Given the description of an element on the screen output the (x, y) to click on. 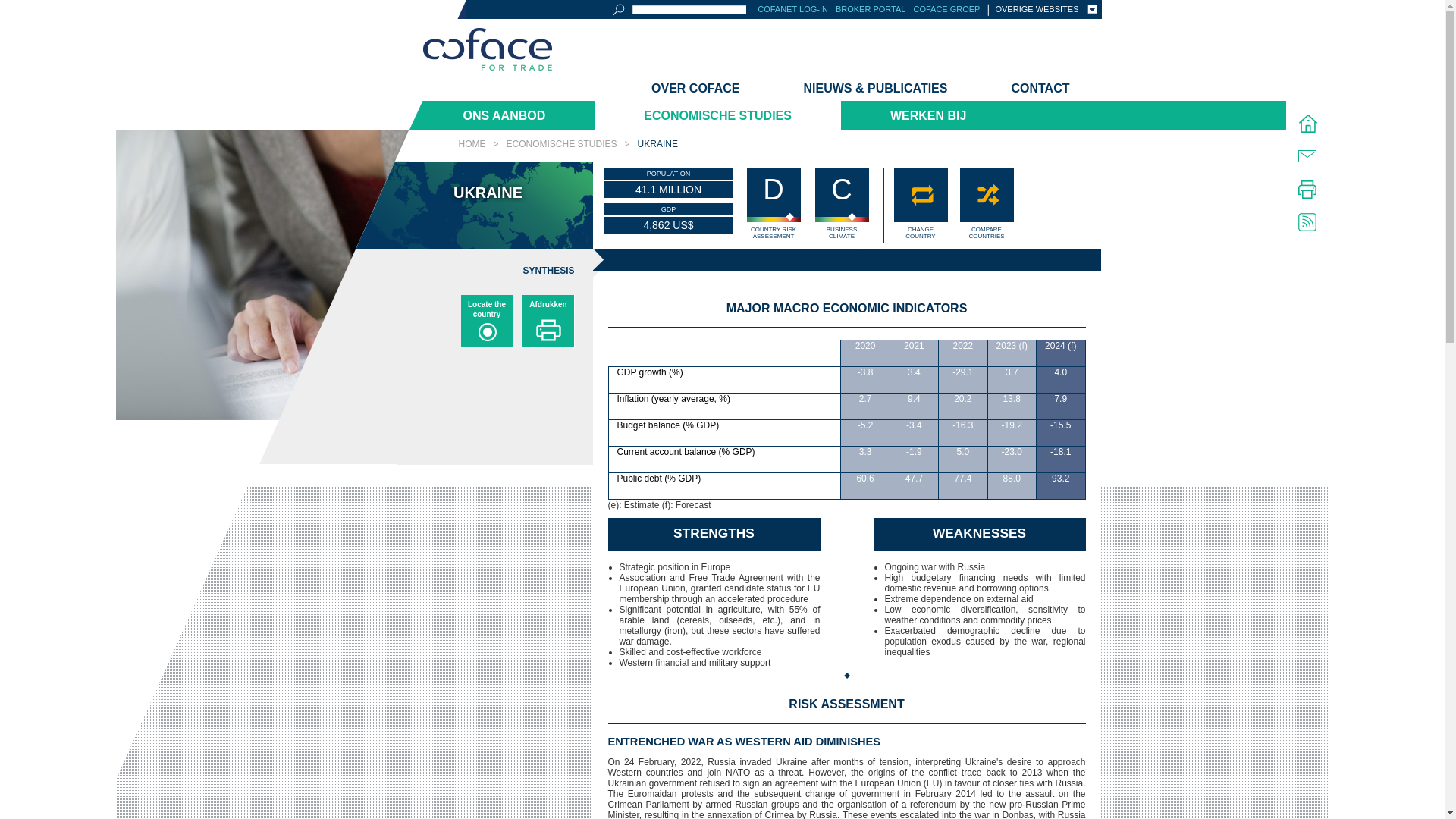
Cofanet log-in (792, 9)
Contact (1039, 88)
Contact (1307, 155)
Broker Portal (870, 9)
Over Coface (694, 88)
Coface Groep (945, 9)
Coface (487, 50)
